Given the description of an element on the screen output the (x, y) to click on. 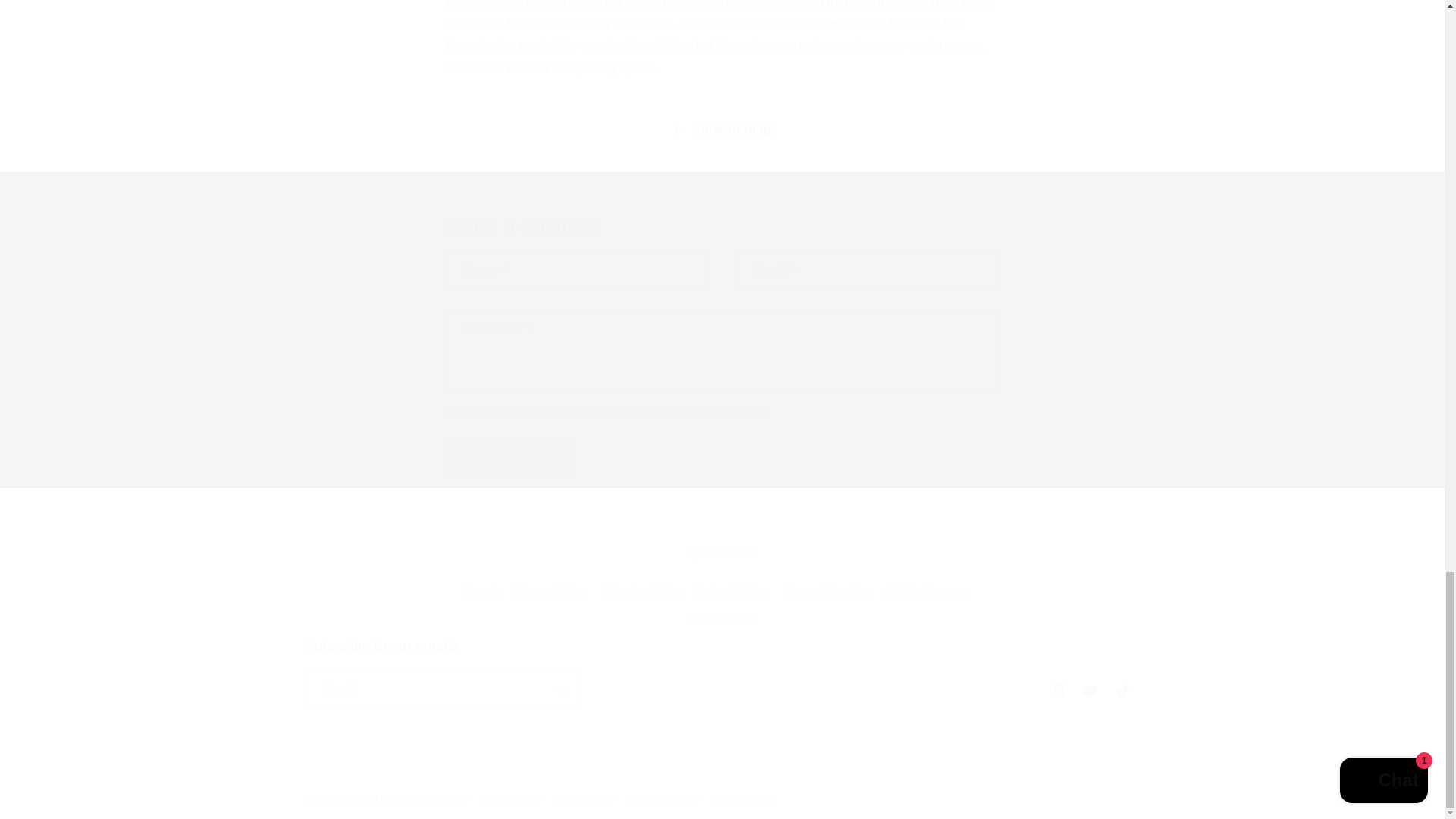
Post comment (510, 456)
